Given the description of an element on the screen output the (x, y) to click on. 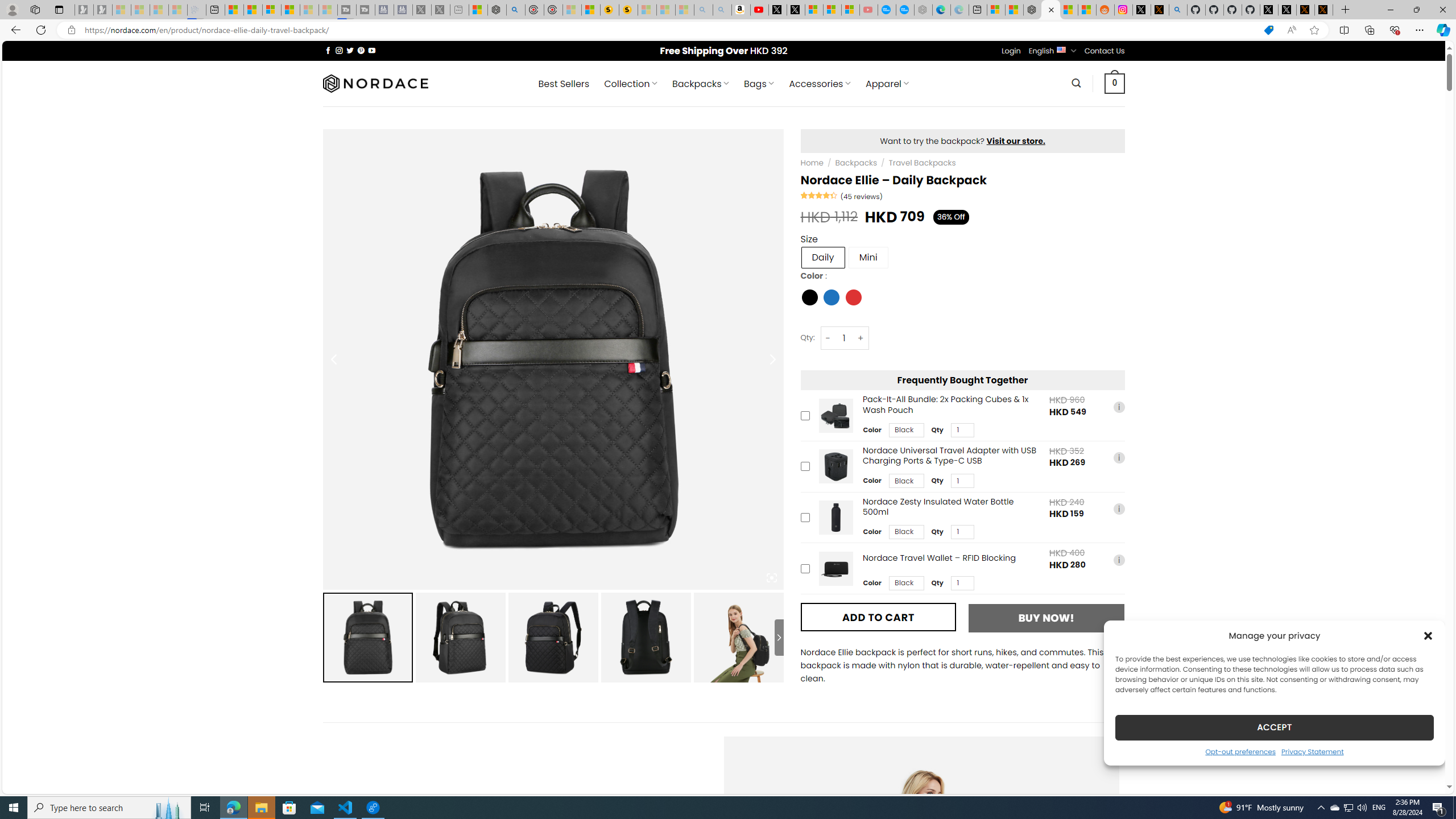
Log in to X / X (1142, 9)
Amazon Echo Dot PNG - Search Images - Sleeping (721, 9)
Nordace Ellie - Daily Backpack (738, 637)
Nordace - Nordace has arrived Hong Kong - Sleeping (923, 9)
